Given the description of an element on the screen output the (x, y) to click on. 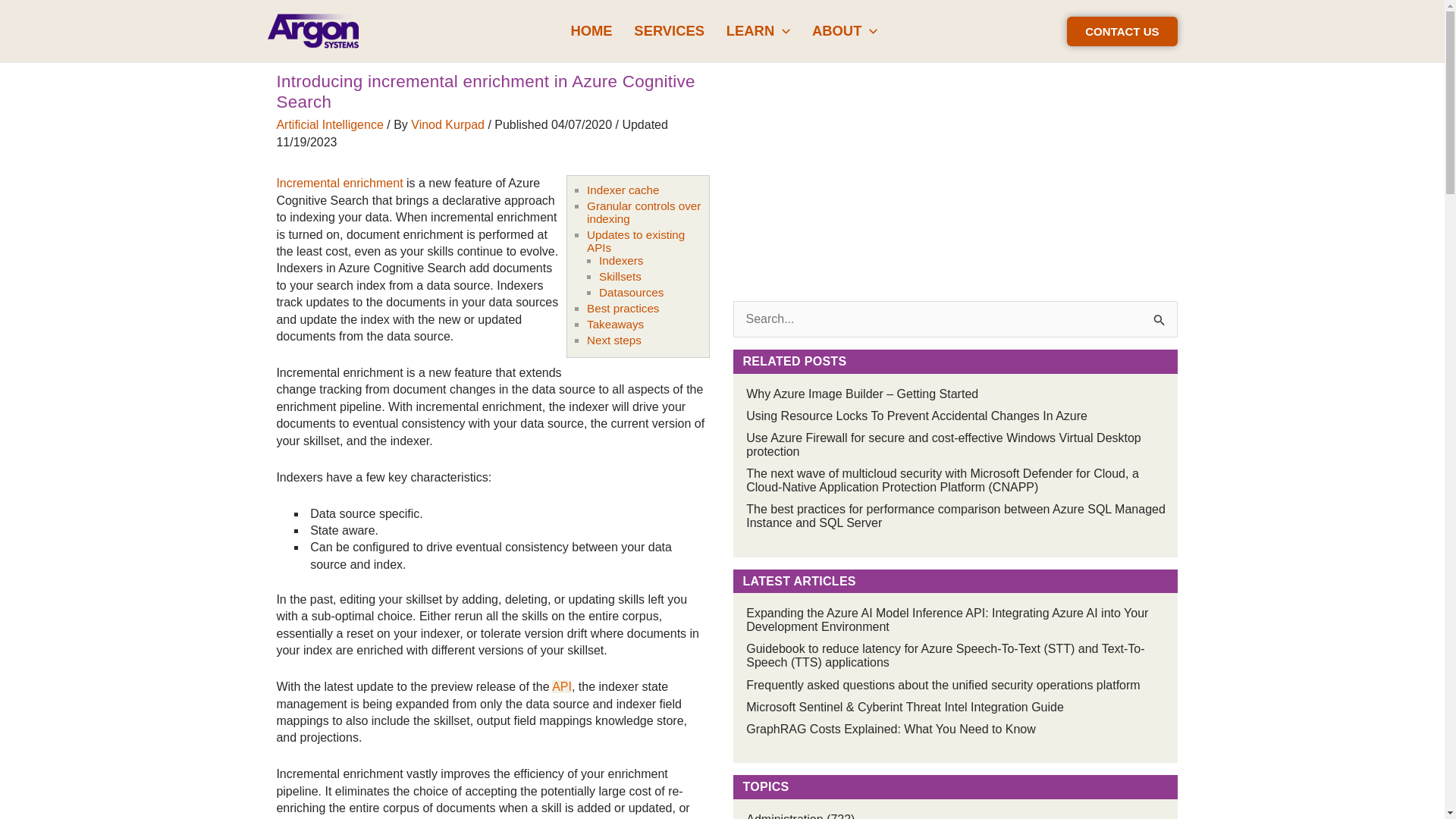
Best practices (622, 308)
Incremental enrichment (339, 182)
Datasources (630, 291)
Indexers (620, 259)
Search (1159, 316)
HOME (590, 30)
Takeaways (614, 323)
View all posts by Vinod Kurpad (448, 124)
Artificial Intelligence (329, 124)
SERVICES (668, 30)
